Given the description of an element on the screen output the (x, y) to click on. 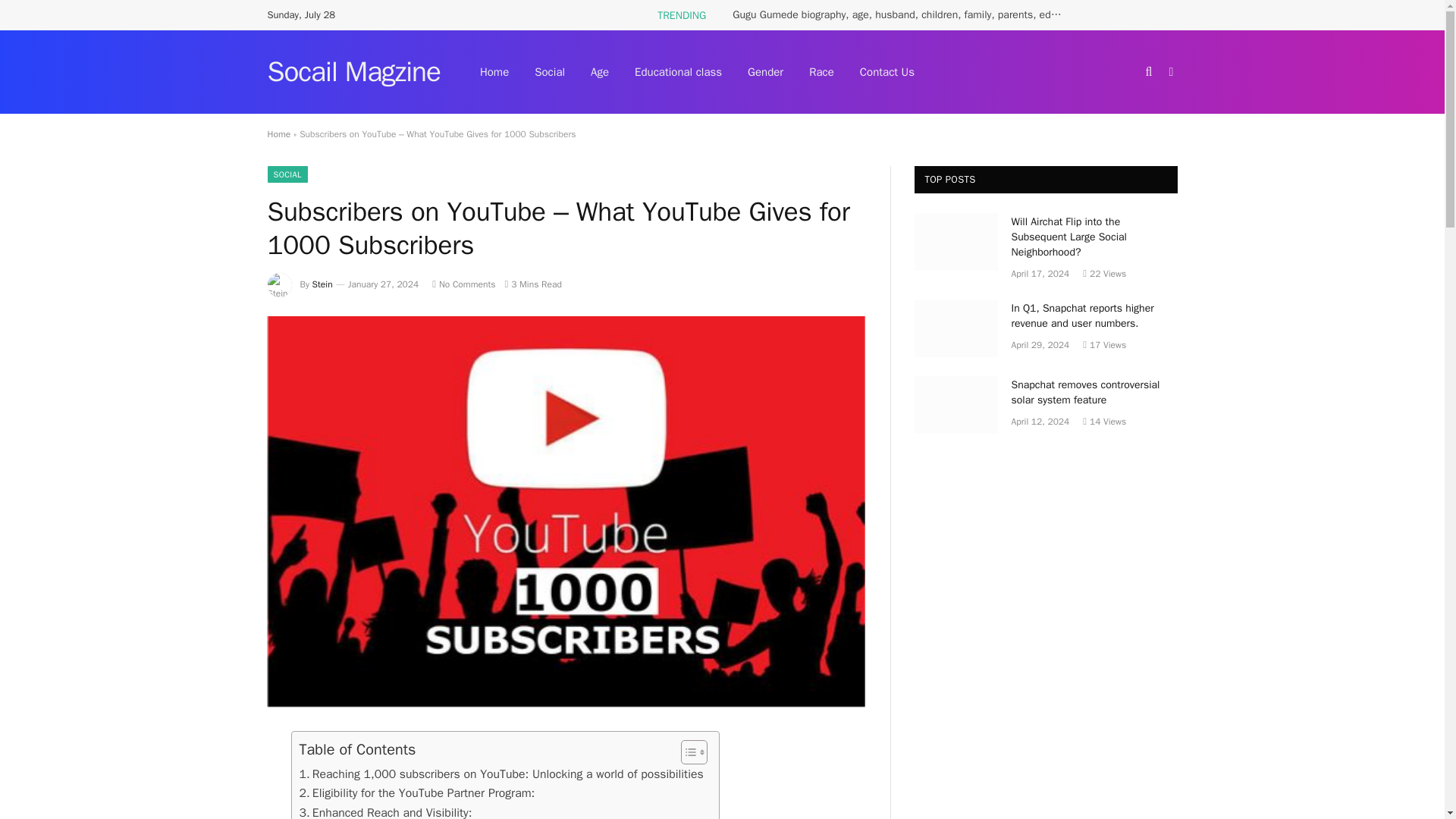
Enhanced Reach and Visibility: (384, 811)
Contact Us (887, 71)
Educational class (678, 71)
Home (277, 133)
Eligibility for the YouTube Partner Program: (416, 793)
socailmagzine (352, 71)
Age (599, 71)
Home (494, 71)
Gender (765, 71)
Switch to Dark Design - easier on eyes. (1168, 71)
Race (821, 71)
Socail Magzine (352, 71)
Posts by Stein (323, 284)
Search (1149, 71)
